Given the description of an element on the screen output the (x, y) to click on. 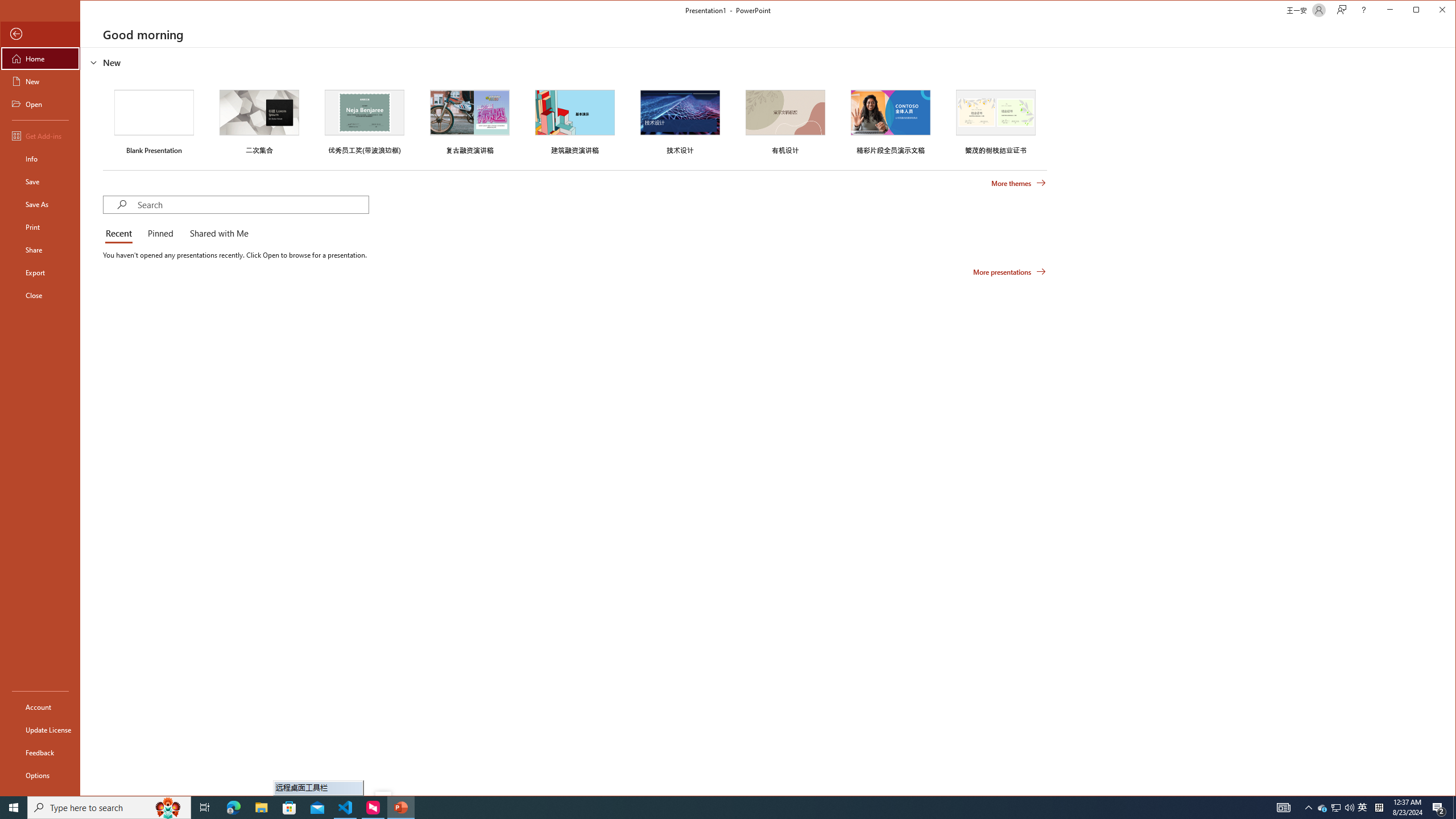
Update License (40, 729)
Account (40, 706)
Print (1322, 807)
